Given the description of an element on the screen output the (x, y) to click on. 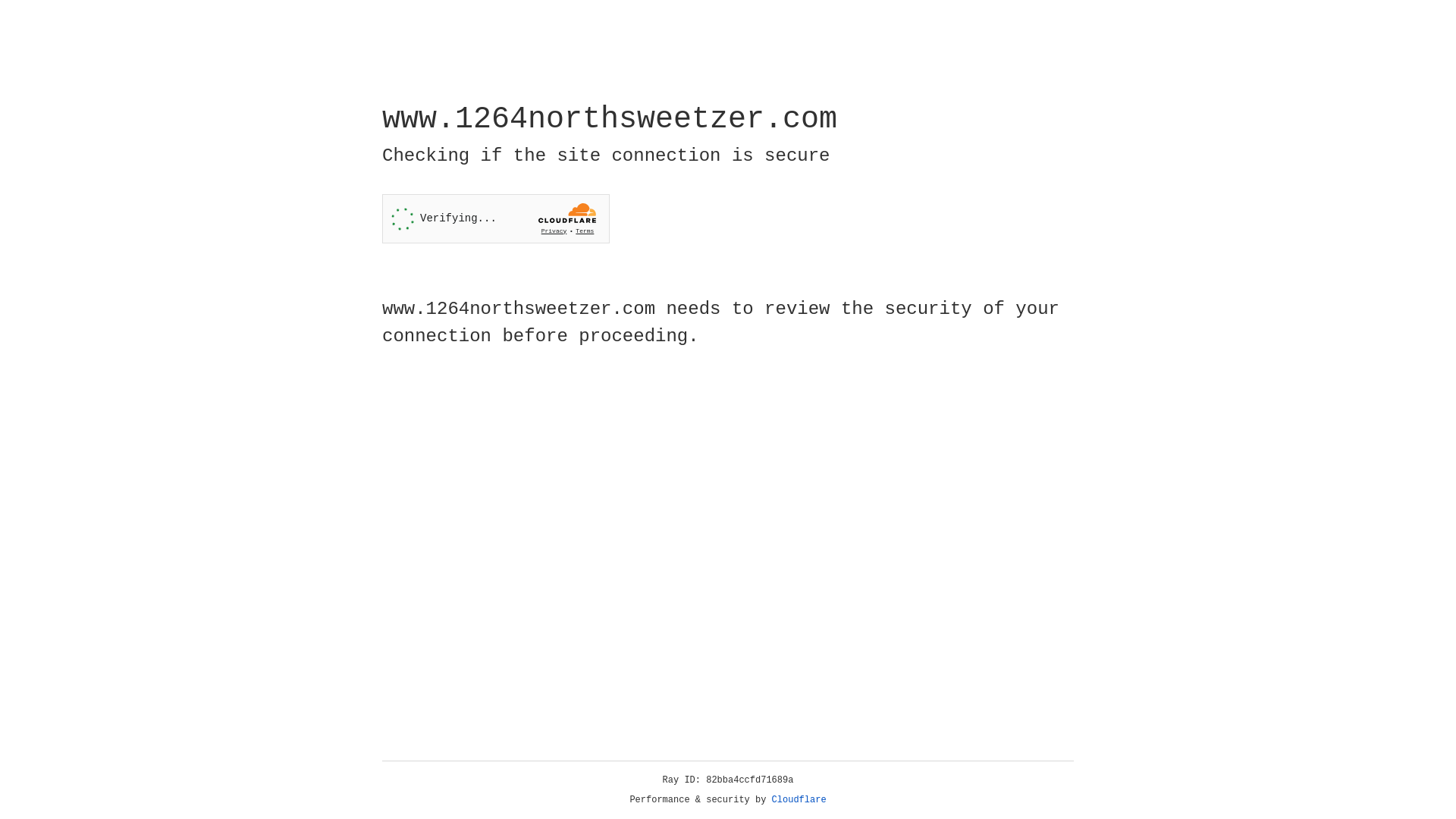
Widget containing a Cloudflare security challenge Element type: hover (495, 218)
Cloudflare Element type: text (798, 799)
